Given the description of an element on the screen output the (x, y) to click on. 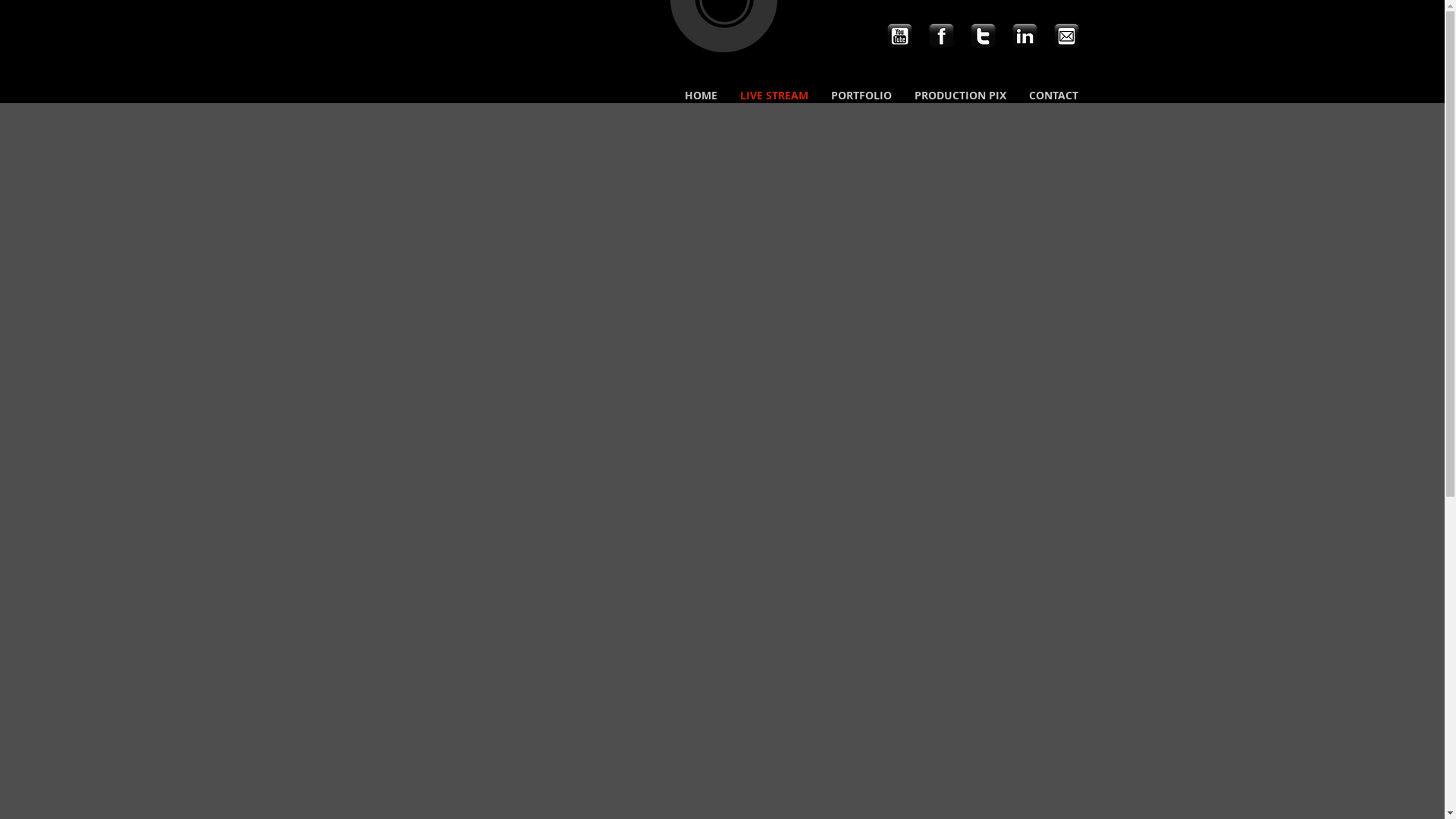
HOME Element type: text (700, 95)
CONTACT Element type: text (1053, 95)
PRODUCTION PIX Element type: text (959, 95)
LIVE STREAM Element type: text (773, 95)
PORTFOLIO Element type: text (860, 95)
